Given the description of an element on the screen output the (x, y) to click on. 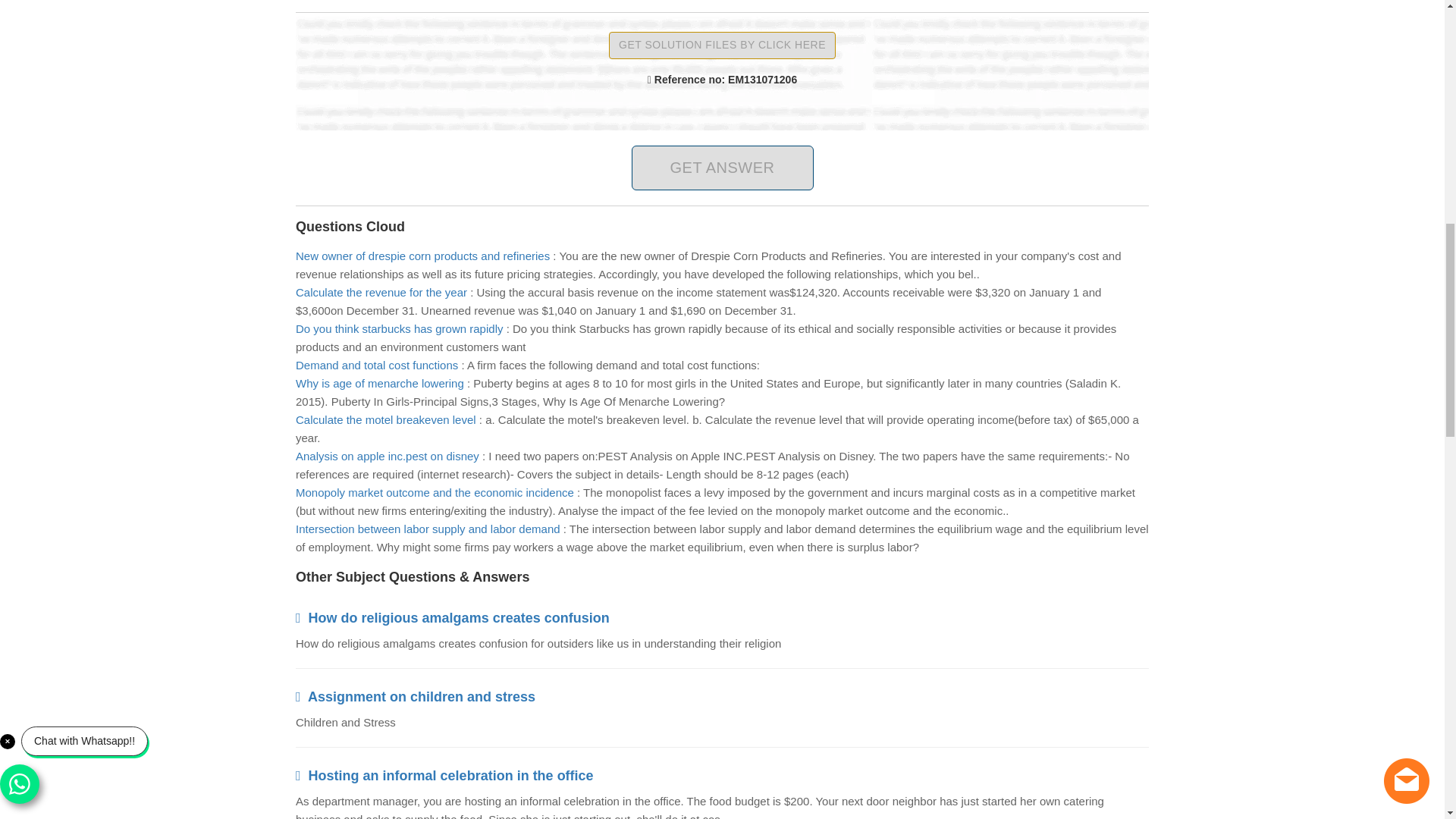
Get Solution Files by Click here (721, 44)
Get Answer (721, 167)
